Given the description of an element on the screen output the (x, y) to click on. 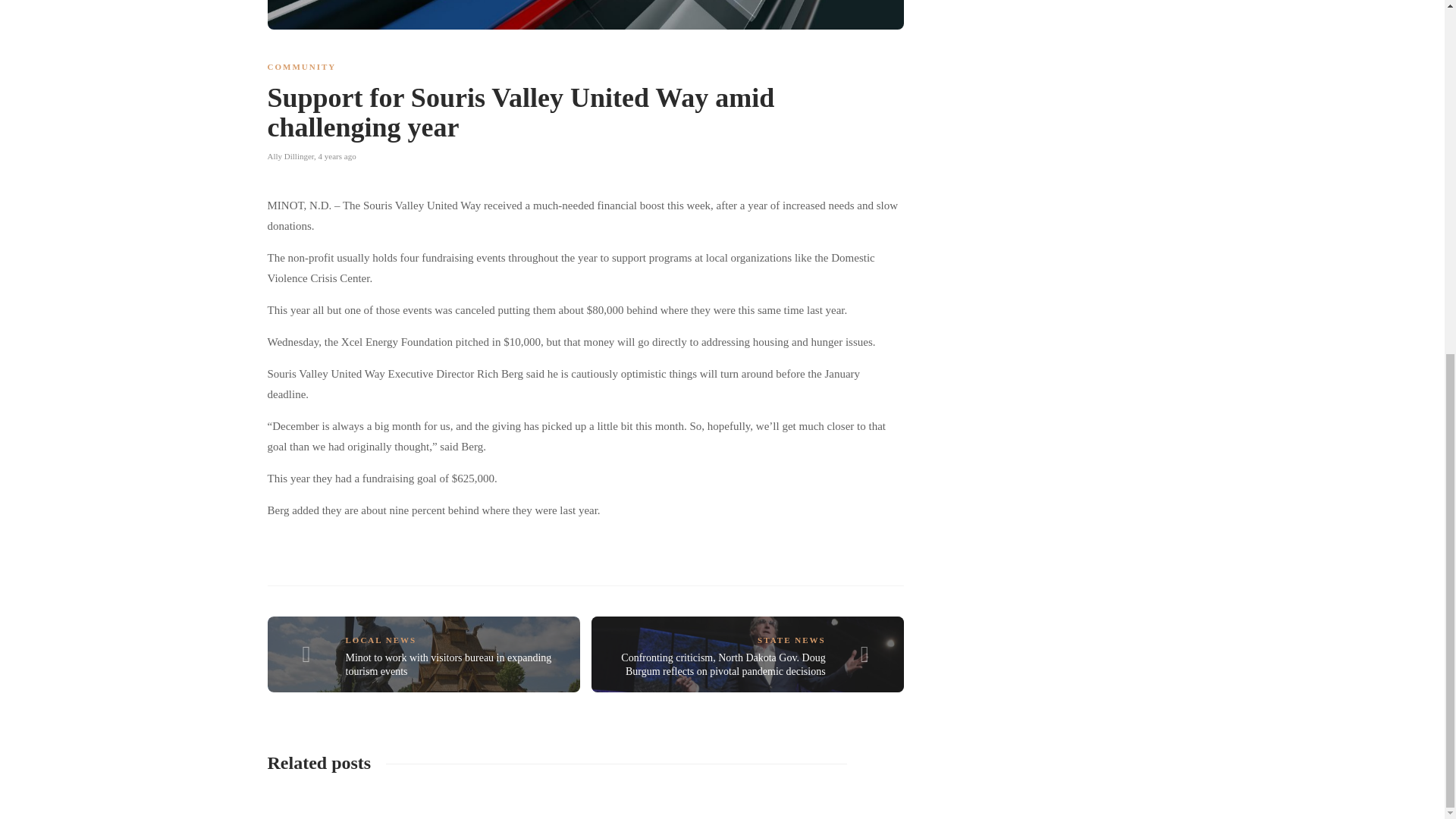
STATE NEWS (791, 639)
LOCAL NEWS (381, 639)
4 years ago (337, 155)
COMMUNITY (301, 66)
Ally Dillinger (290, 155)
Support for Souris Valley United Way amid challenging year (573, 116)
